Given the description of an element on the screen output the (x, y) to click on. 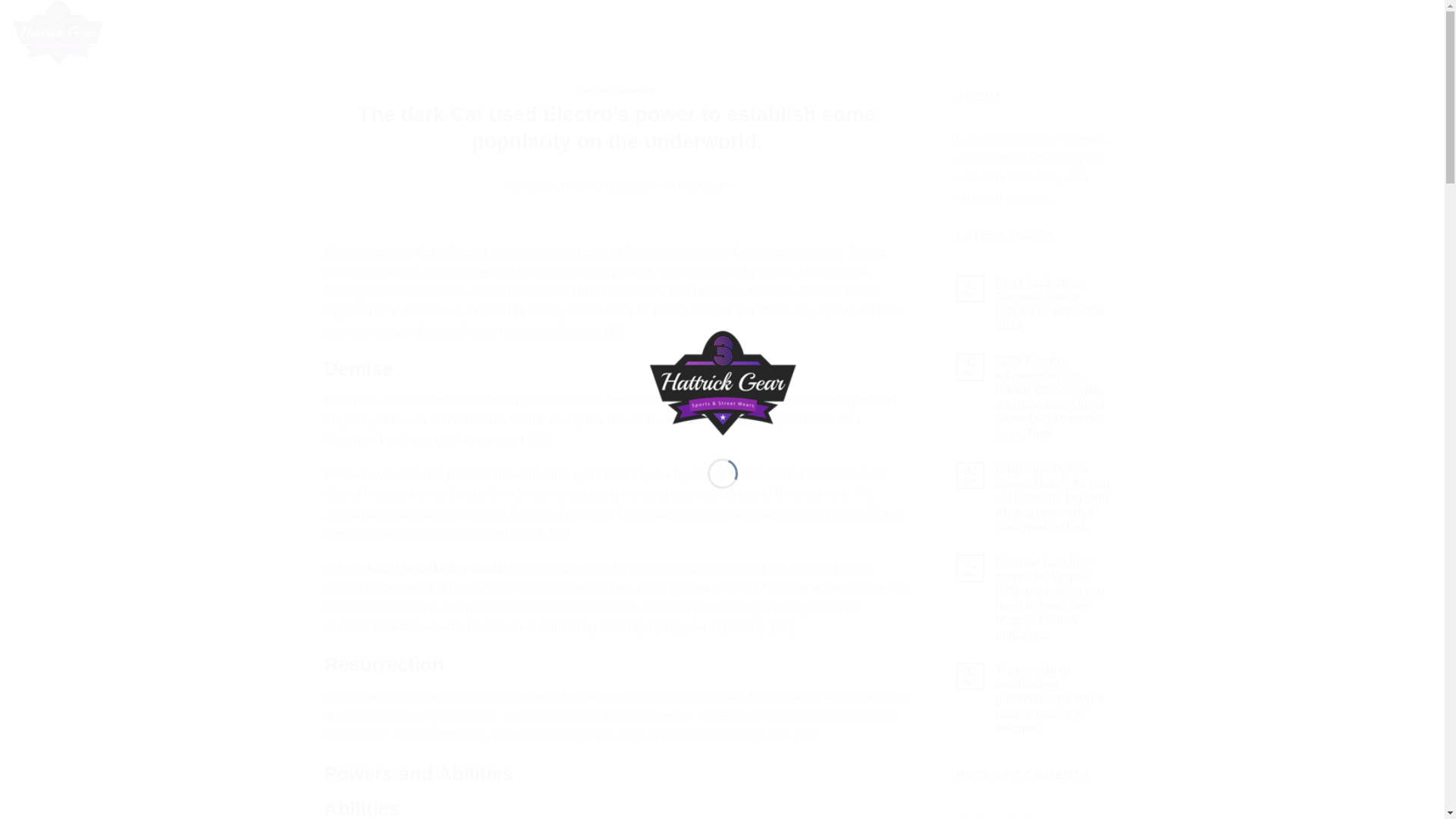
PRODUCTS (484, 32)
HOME (222, 32)
PROFILE (424, 32)
HATTRICKGEAR (694, 185)
JANUARY 10, 2022 (601, 185)
Brigit Application Remark: Salary Enhances within the 2022 (1058, 304)
ABOUT (265, 32)
Brigit Application Remark: Salary Enhances within the 2022 (1058, 304)
LOGIN (1304, 32)
